Given the description of an element on the screen output the (x, y) to click on. 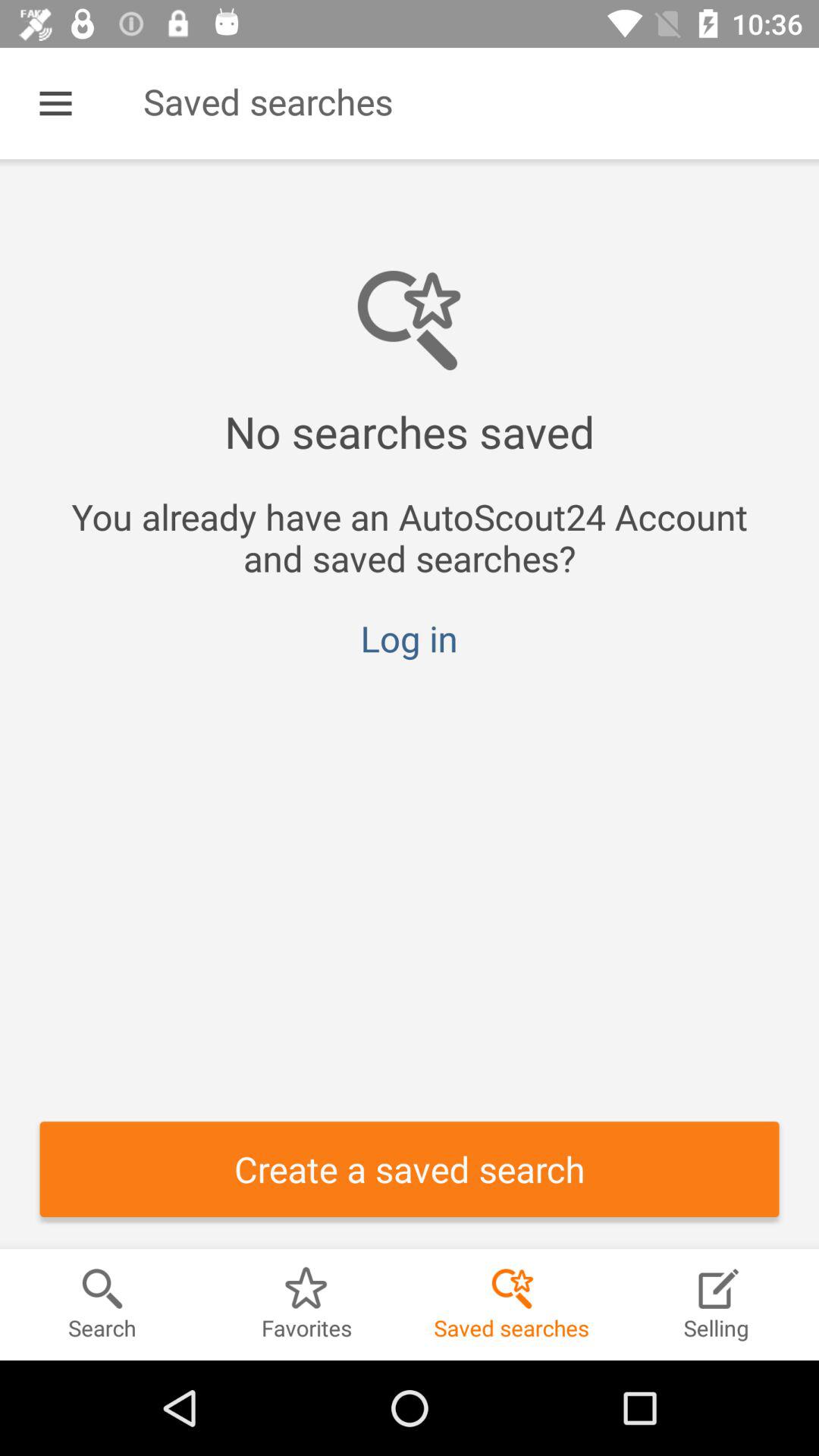
jump to the create a saved (409, 1169)
